Given the description of an element on the screen output the (x, y) to click on. 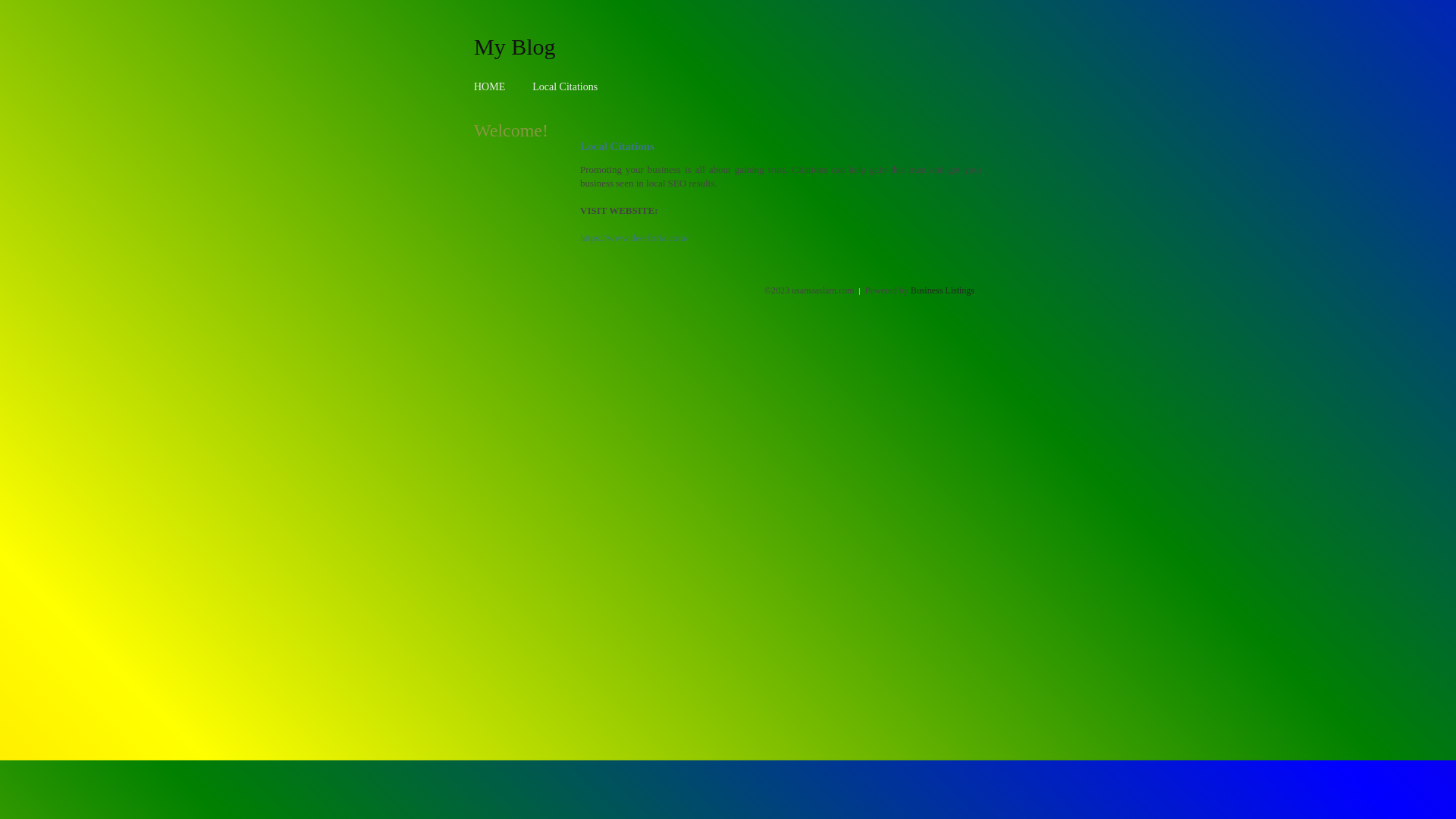
My Blog Element type: text (514, 46)
HOME Element type: text (489, 86)
https://www.deerforia.com/ Element type: text (634, 237)
Local Citations Element type: text (564, 86)
Business Listings Element type: text (942, 290)
